Given the description of an element on the screen output the (x, y) to click on. 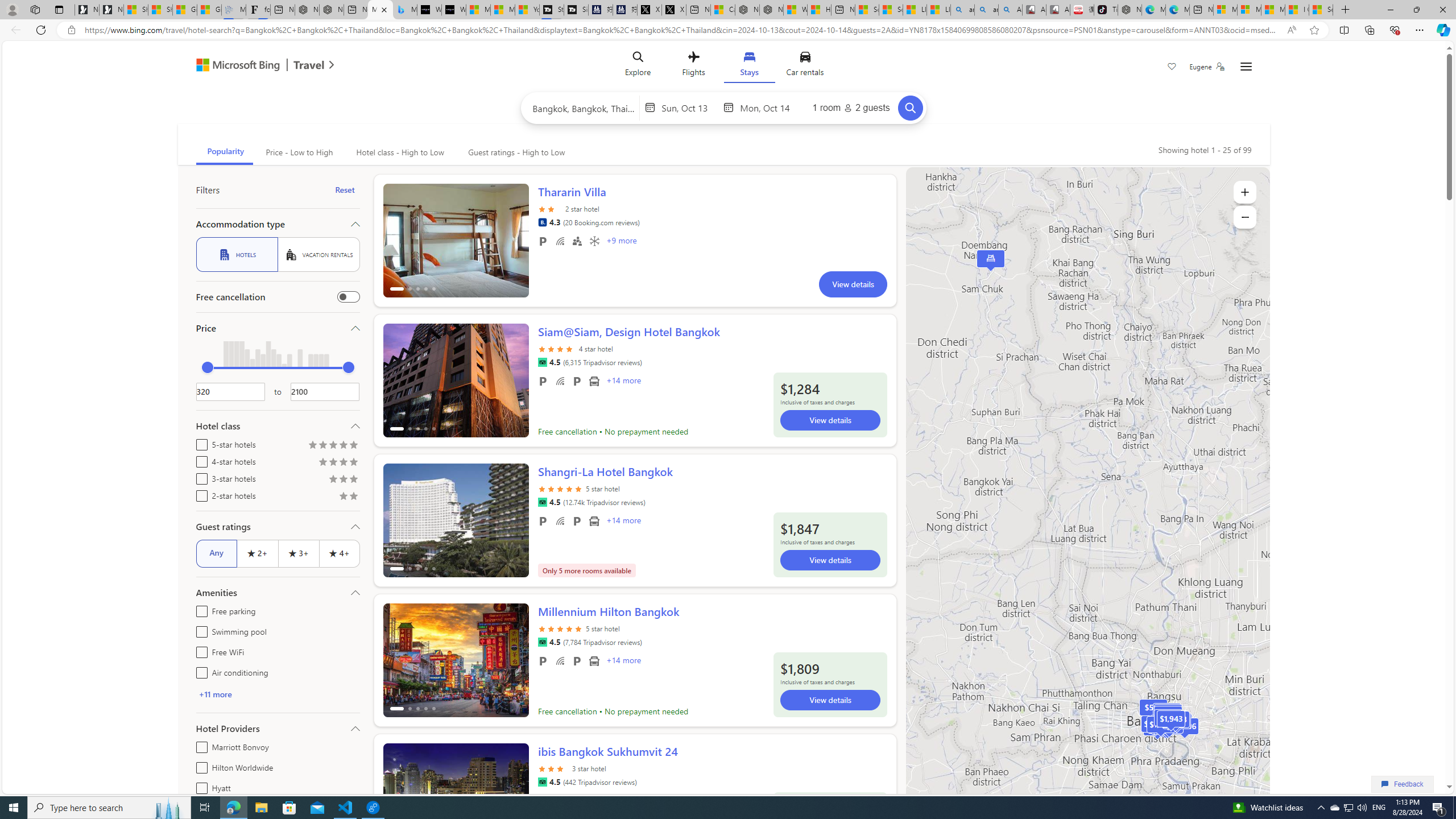
Amazon Echo Robot - Search Images (1009, 9)
Zoom in (1244, 191)
3-star hotels (199, 476)
Guest ratings - High to Low (515, 152)
Hotel Providers (277, 728)
+14 More Amenities (622, 661)
Microsoft Bing Travel - Stays in Bangkok, Bangkok, Thailand (380, 9)
Airport transportation (593, 660)
Free cancellation (347, 296)
Microsoft Bing (232, 65)
